Given the description of an element on the screen output the (x, y) to click on. 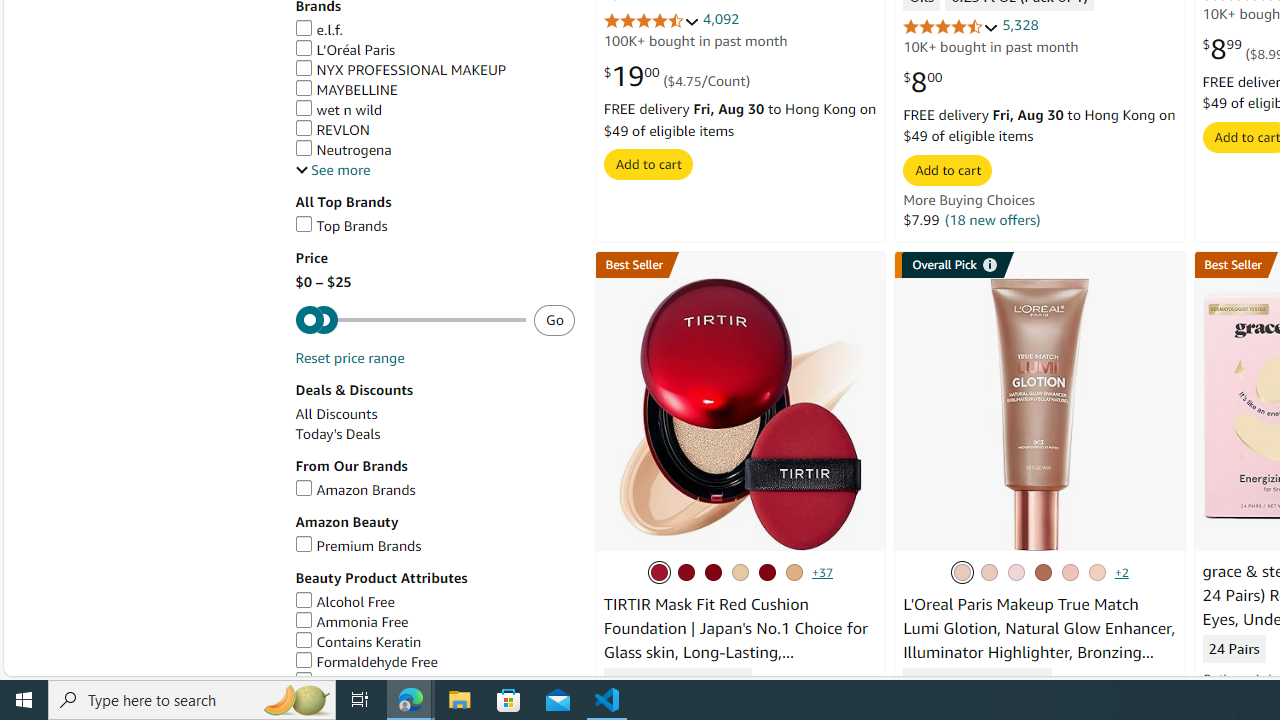
Go - Submit price range (554, 319)
Minimum (410, 320)
Amazon Brands (434, 489)
Alcohol Free (434, 602)
21W Natural Ivory (739, 572)
Neutrogena (342, 149)
Skip to main search results (88, 666)
See more, Brands (332, 170)
NYX PROFESSIONAL MAKEUP (434, 70)
wet n wild (434, 110)
Today's Deals (434, 434)
4,092 (720, 20)
